Given the description of an element on the screen output the (x, y) to click on. 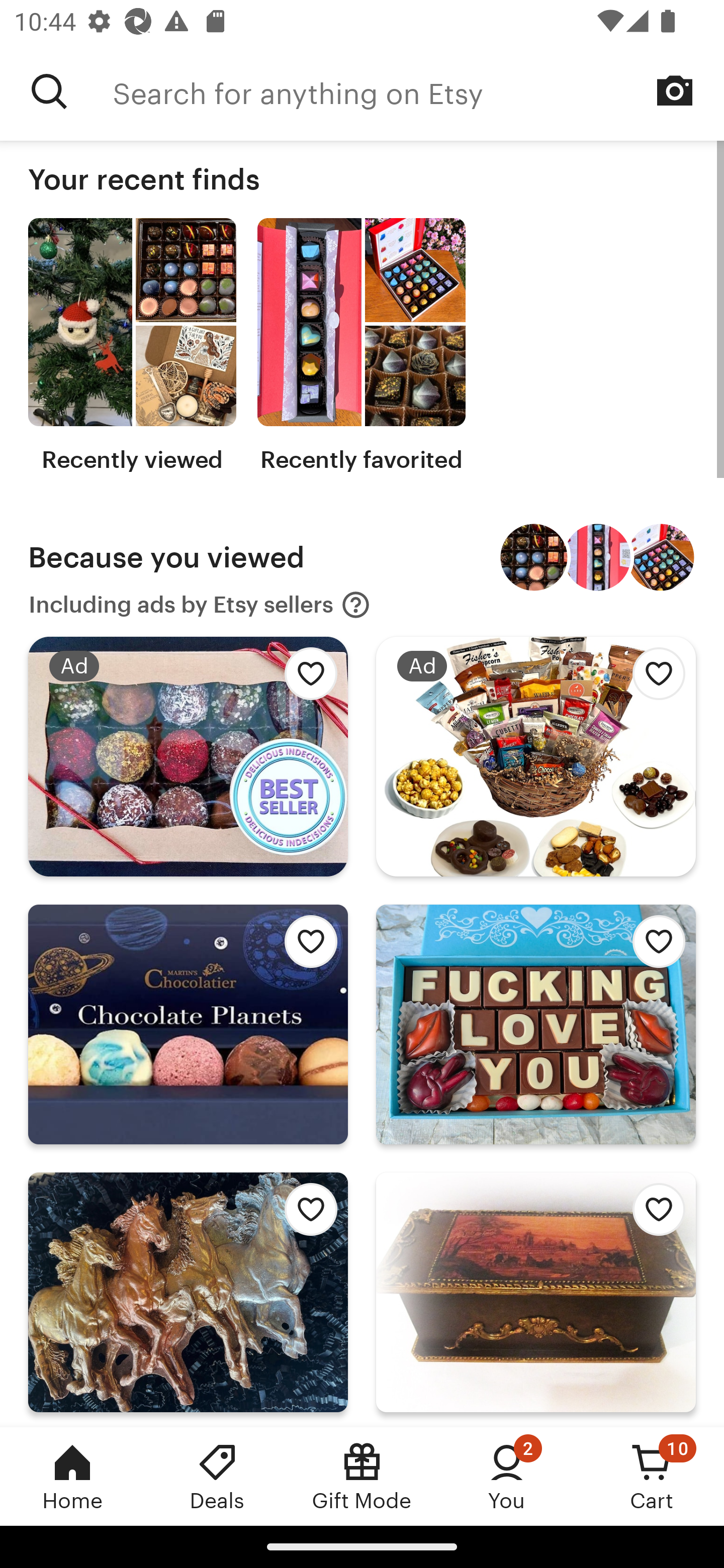
Search for anything on Etsy (49, 91)
Search by image (674, 90)
Search for anything on Etsy (418, 91)
Recently viewed (132, 345)
Recently favorited (361, 345)
Including ads by Etsy sellers (199, 604)
Deals (216, 1475)
Gift Mode (361, 1475)
You, 2 new notifications You (506, 1475)
Cart, 10 new notifications Cart (651, 1475)
